Given the description of an element on the screen output the (x, y) to click on. 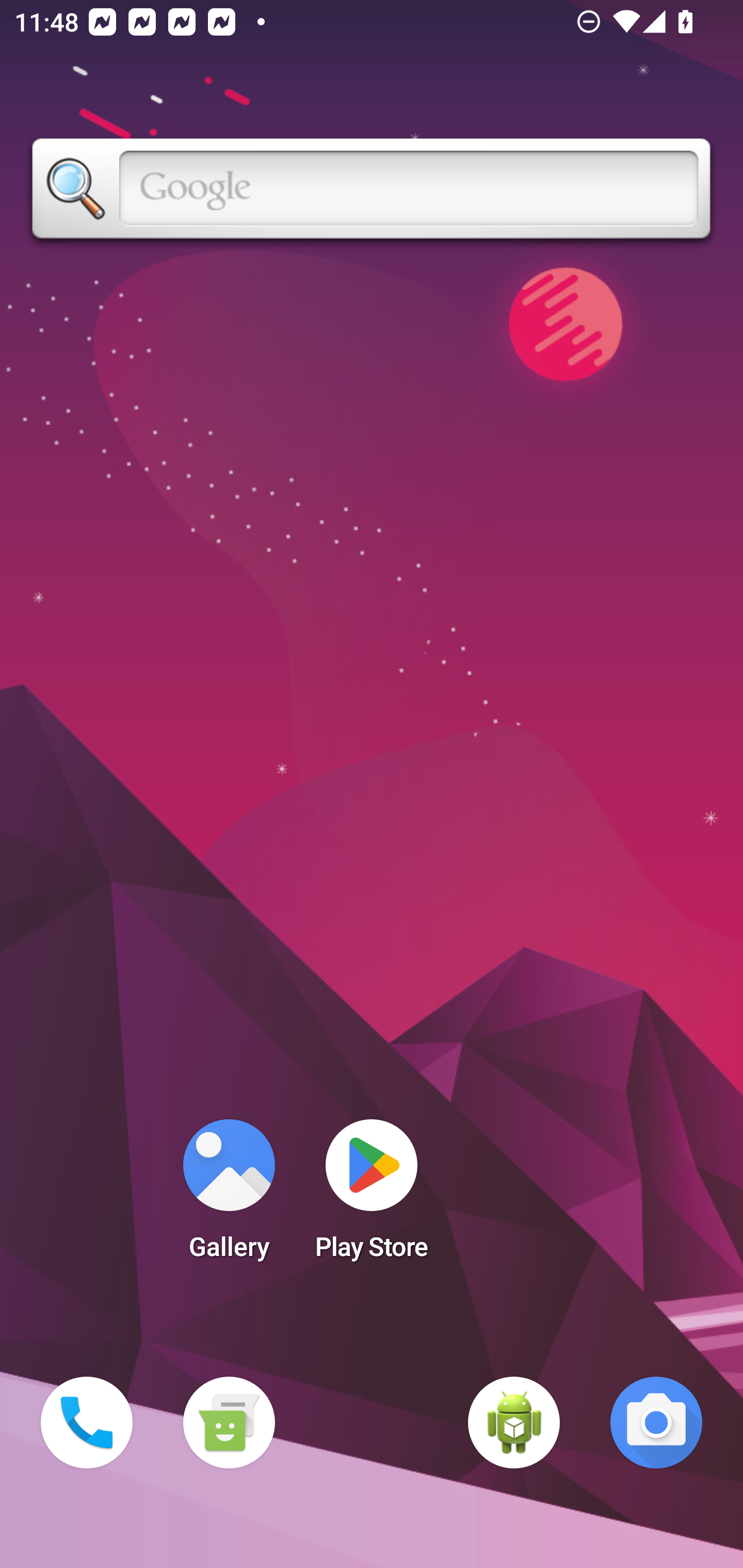
Gallery (228, 1195)
Play Store (371, 1195)
Phone (86, 1422)
Messaging (228, 1422)
WebView Browser Tester (513, 1422)
Camera (656, 1422)
